Given the description of an element on the screen output the (x, y) to click on. 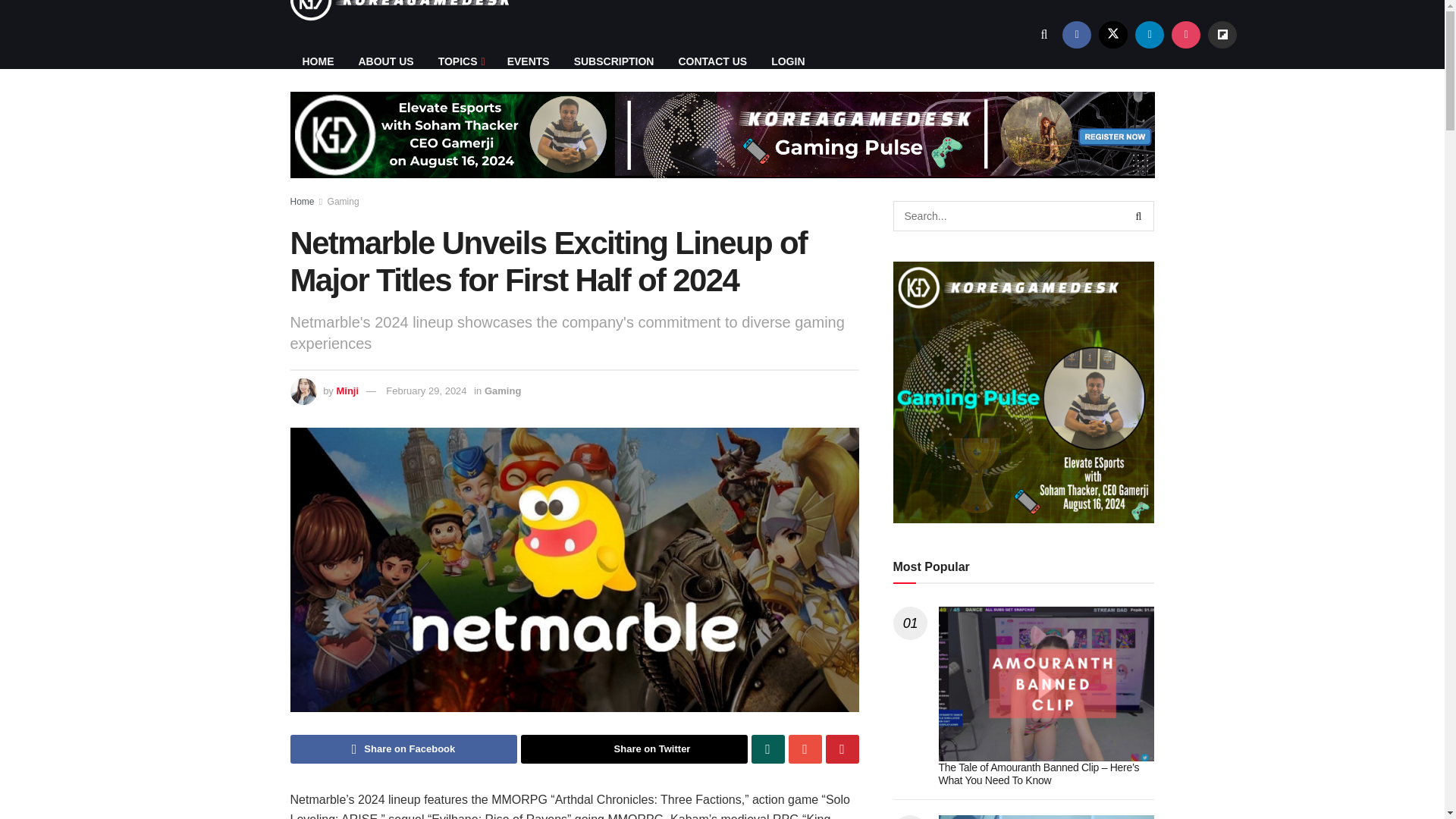
TOPICS (460, 61)
SUBSCRIPTION (614, 61)
EVENTS (528, 61)
CONTACT US (711, 61)
ABOUT US (385, 61)
